Given the description of an element on the screen output the (x, y) to click on. 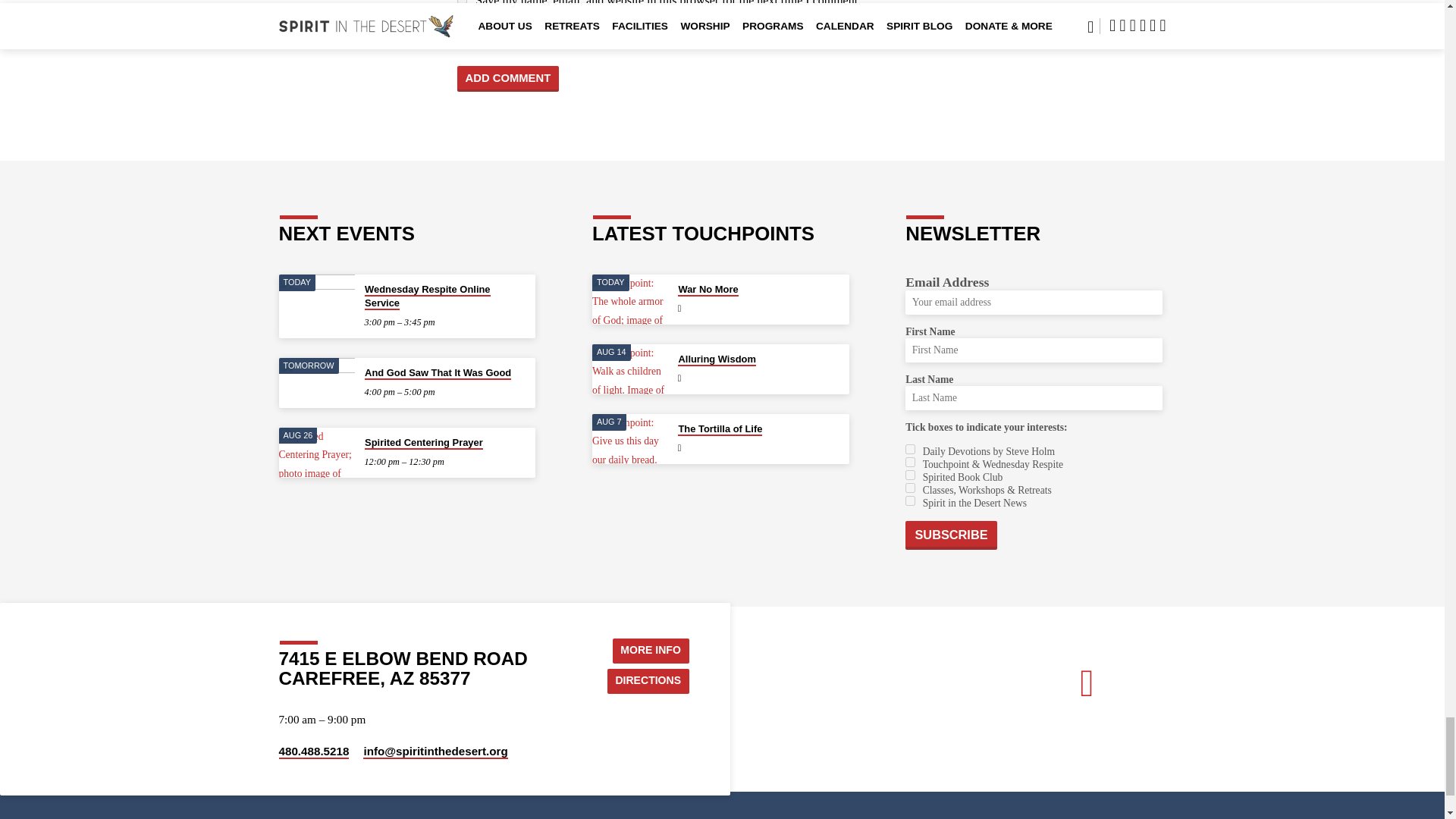
Subscribe (951, 534)
Add Comment (508, 79)
db06863268 (910, 501)
f19ab91031 (910, 449)
yes (461, 2)
e15f548fa0 (910, 488)
44e0e54a7c (910, 461)
451e56ae58 (910, 474)
